Given the description of an element on the screen output the (x, y) to click on. 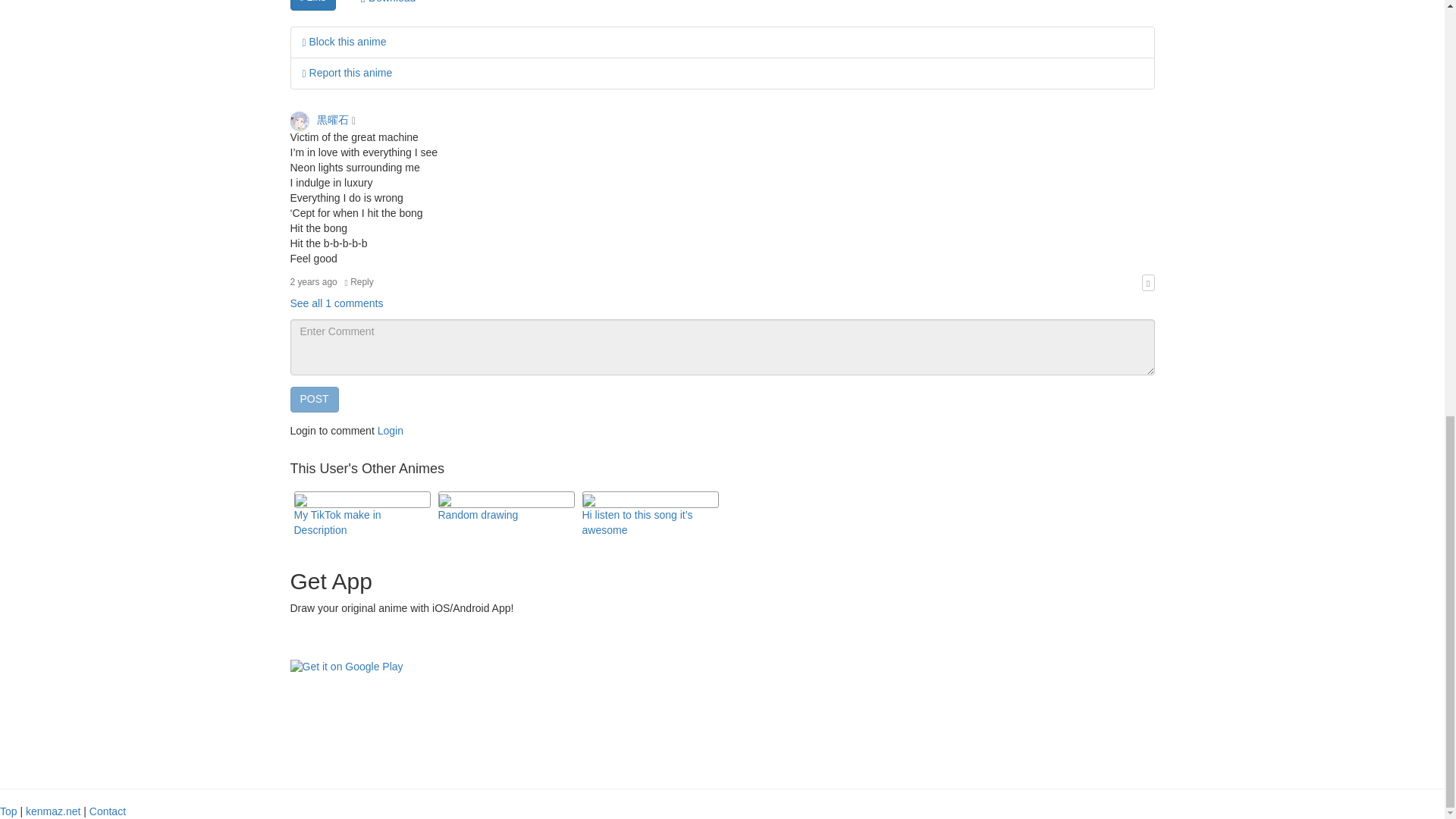
POST (313, 399)
See all 1 comments (335, 303)
POST (313, 399)
kenmaz.net (53, 811)
Login (390, 430)
Reply (359, 281)
Report this anime (346, 72)
My TikTok make in Description (337, 522)
Top (8, 811)
Contact (106, 811)
